Given the description of an element on the screen output the (x, y) to click on. 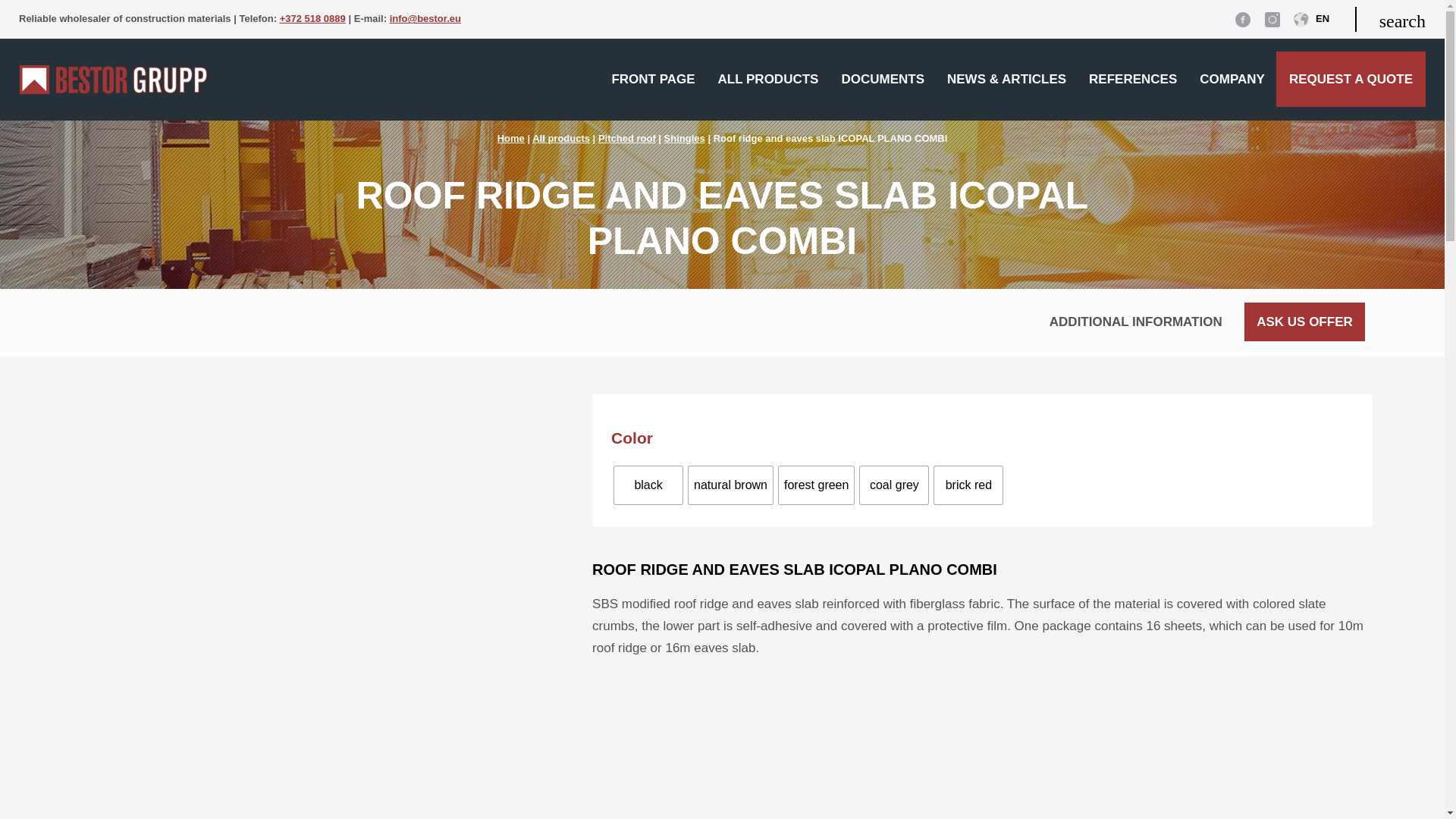
Pitched roof (627, 138)
All products (560, 138)
EN (1311, 23)
search (1390, 18)
forest green (815, 485)
coal grey (894, 485)
ALL PRODUCTS (767, 79)
FRONT PAGE (652, 79)
REQUEST A QUOTE (1350, 79)
Home (510, 138)
